Given the description of an element on the screen output the (x, y) to click on. 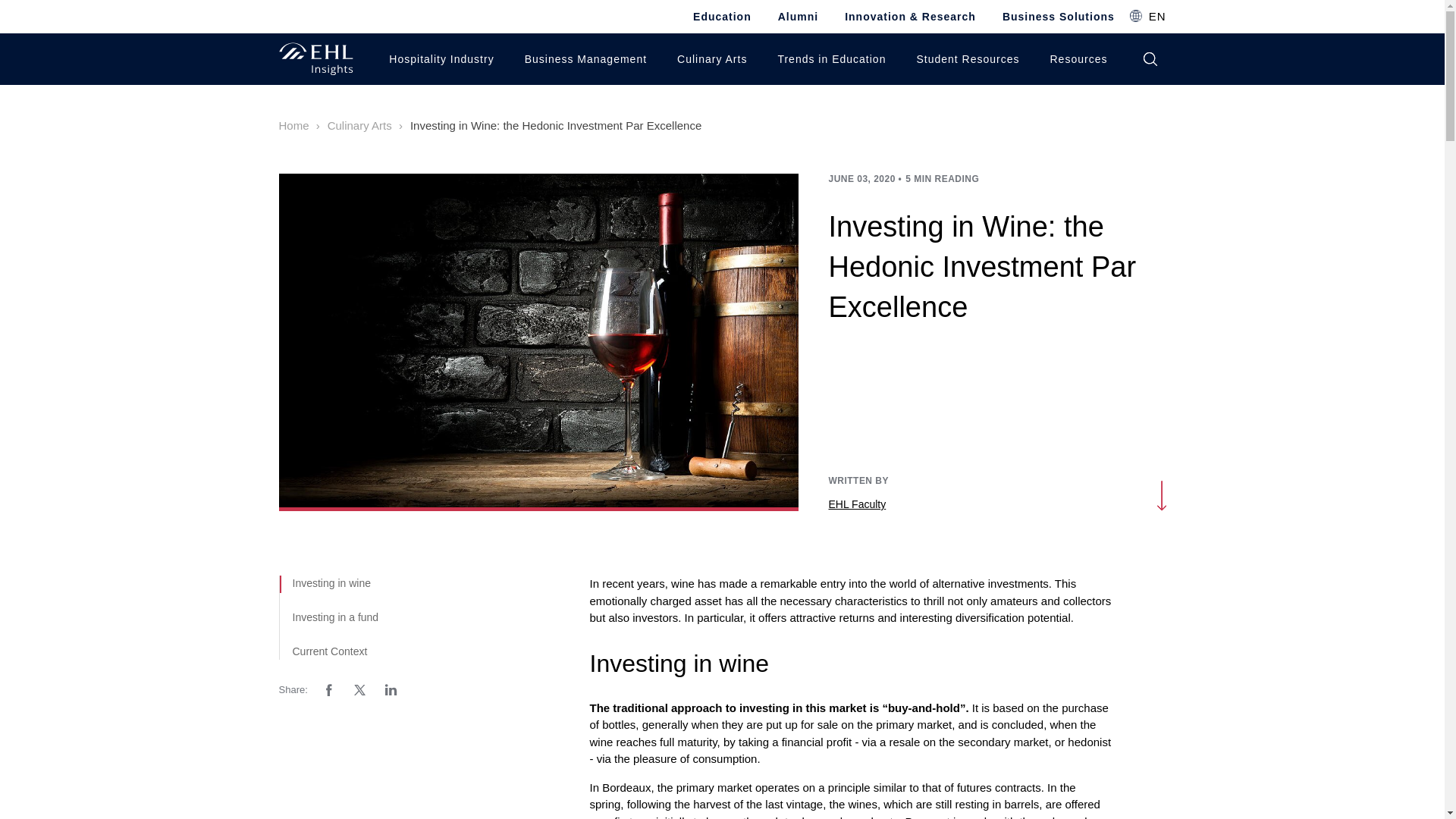
Education (722, 17)
Hospitality Industry (437, 59)
Trends in Education (827, 59)
Logo Hospitality Insights (316, 59)
Alumni (797, 17)
Business Solutions (1059, 17)
EN (1147, 15)
Business Management (581, 59)
Culinary Arts (707, 59)
